Given the description of an element on the screen output the (x, y) to click on. 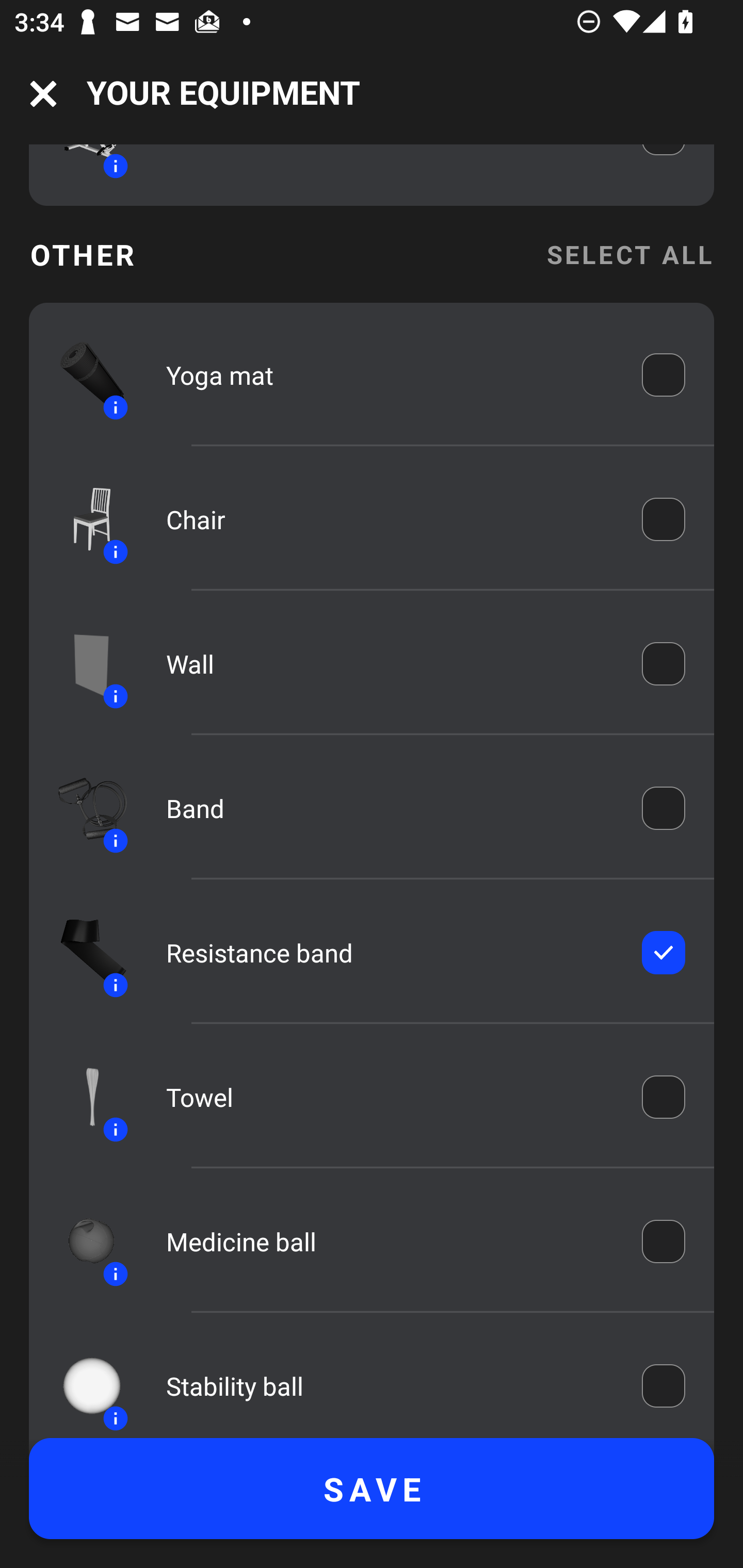
Navigation icon (43, 93)
SELECT ALL (629, 254)
Equipment icon Information icon (82, 375)
Yoga mat (389, 375)
Equipment icon Information icon (82, 519)
Chair (389, 519)
Equipment icon Information icon (82, 663)
Wall (389, 663)
Equipment icon Information icon (82, 808)
Band (389, 808)
Equipment icon Information icon (82, 952)
Resistance band (389, 952)
Equipment icon Information icon (82, 1096)
Towel (389, 1096)
Equipment icon Information icon (82, 1240)
Medicine ball (389, 1240)
Equipment icon Information icon (82, 1384)
Stability ball (389, 1386)
SAVE (371, 1488)
